Given the description of an element on the screen output the (x, y) to click on. 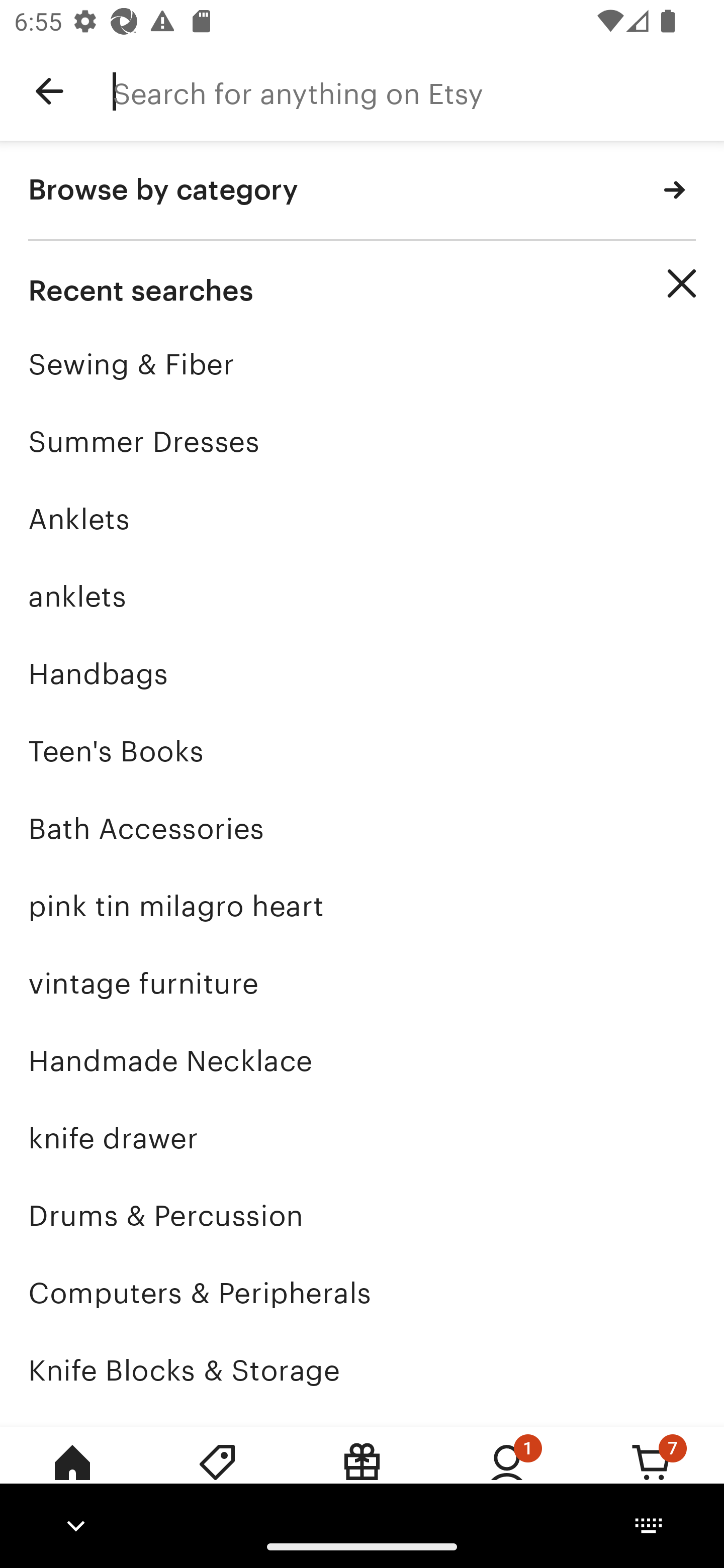
Navigate up (49, 91)
Search for anything on Etsy (418, 91)
Browse by category (362, 191)
Clear (681, 283)
Sewing & Fiber (362, 364)
Summer Dresses (362, 440)
Anklets (362, 518)
anklets (362, 596)
Handbags (362, 673)
Teen's Books (362, 750)
Bath Accessories (362, 828)
pink tin milagro heart (362, 906)
vintage furniture (362, 983)
Handmade Necklace (362, 1060)
knife drawer (362, 1138)
Drums & Percussion (362, 1215)
Computers & Peripherals (362, 1292)
Knife Blocks & Storage (362, 1370)
Deals (216, 1475)
Gift Mode (361, 1475)
You, 1 new notification (506, 1475)
Cart, 7 new notifications (651, 1475)
